Given the description of an element on the screen output the (x, y) to click on. 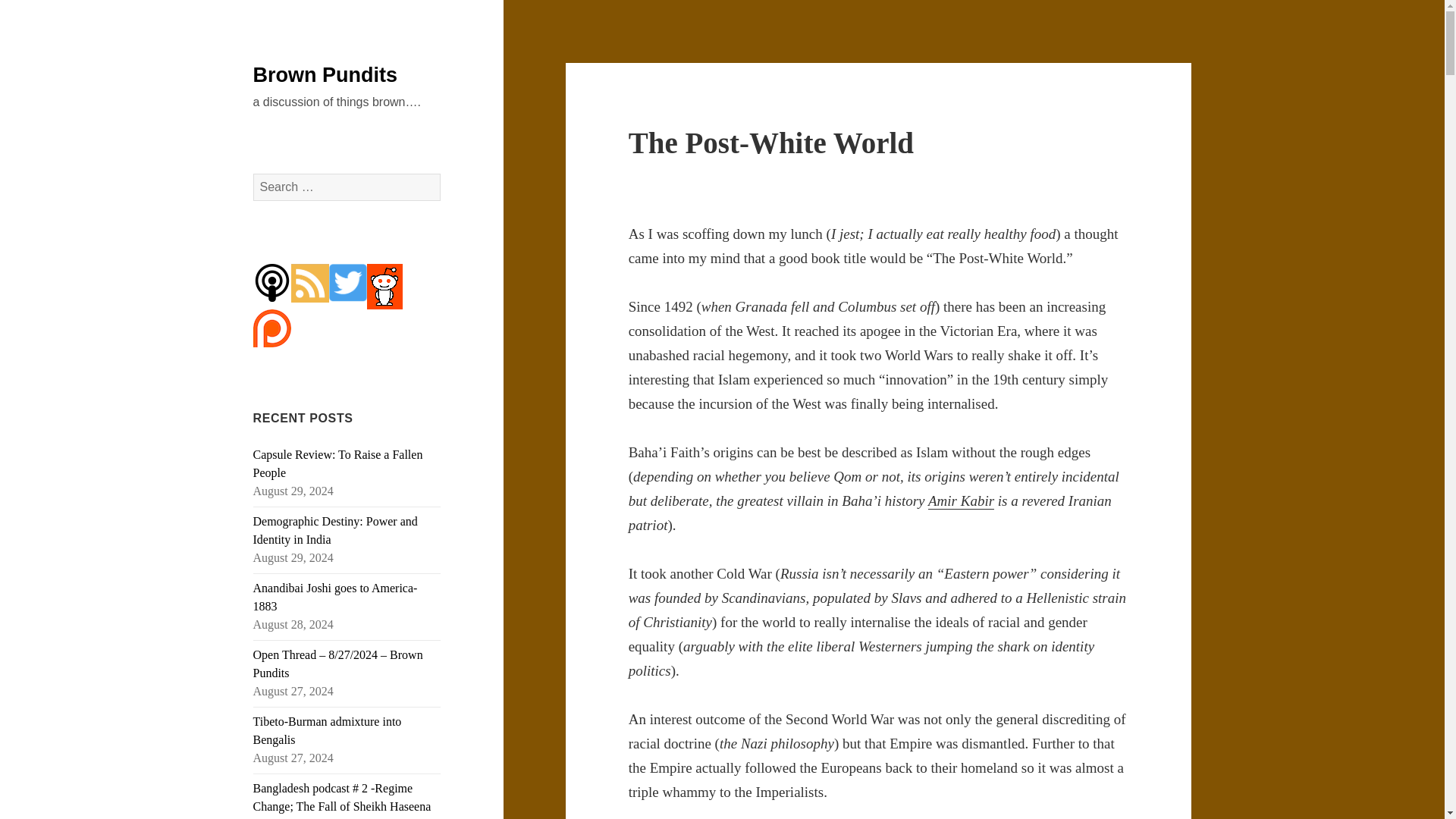
Brown Pundits (325, 74)
Anandibai Joshi goes to America-1883 (335, 596)
Tibeto-Burman admixture into Bengalis (327, 730)
Demographic Destiny: Power and Identity in India (335, 530)
Capsule Review: To Raise a Fallen People (338, 463)
